Given the description of an element on the screen output the (x, y) to click on. 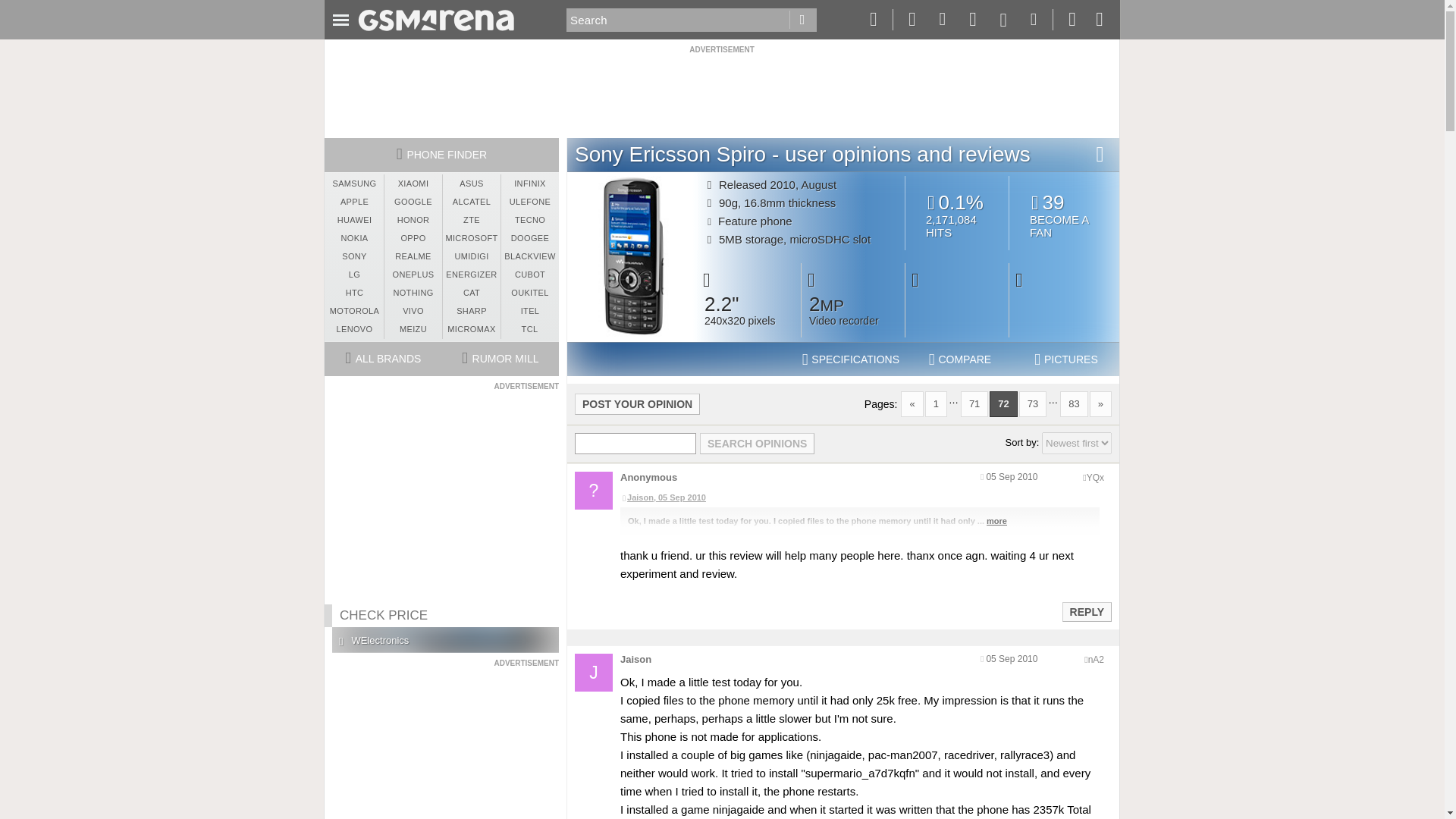
Search opinions (756, 443)
Reply to this post (1086, 612)
PICTURES (1066, 359)
Go (802, 19)
Sony Ericsson Spiro phone specifications (850, 359)
Encoded anonymized location (1094, 477)
COMPARE (960, 359)
Sort comments by (1077, 443)
Encoded anonymized location (1095, 659)
